Given the description of an element on the screen output the (x, y) to click on. 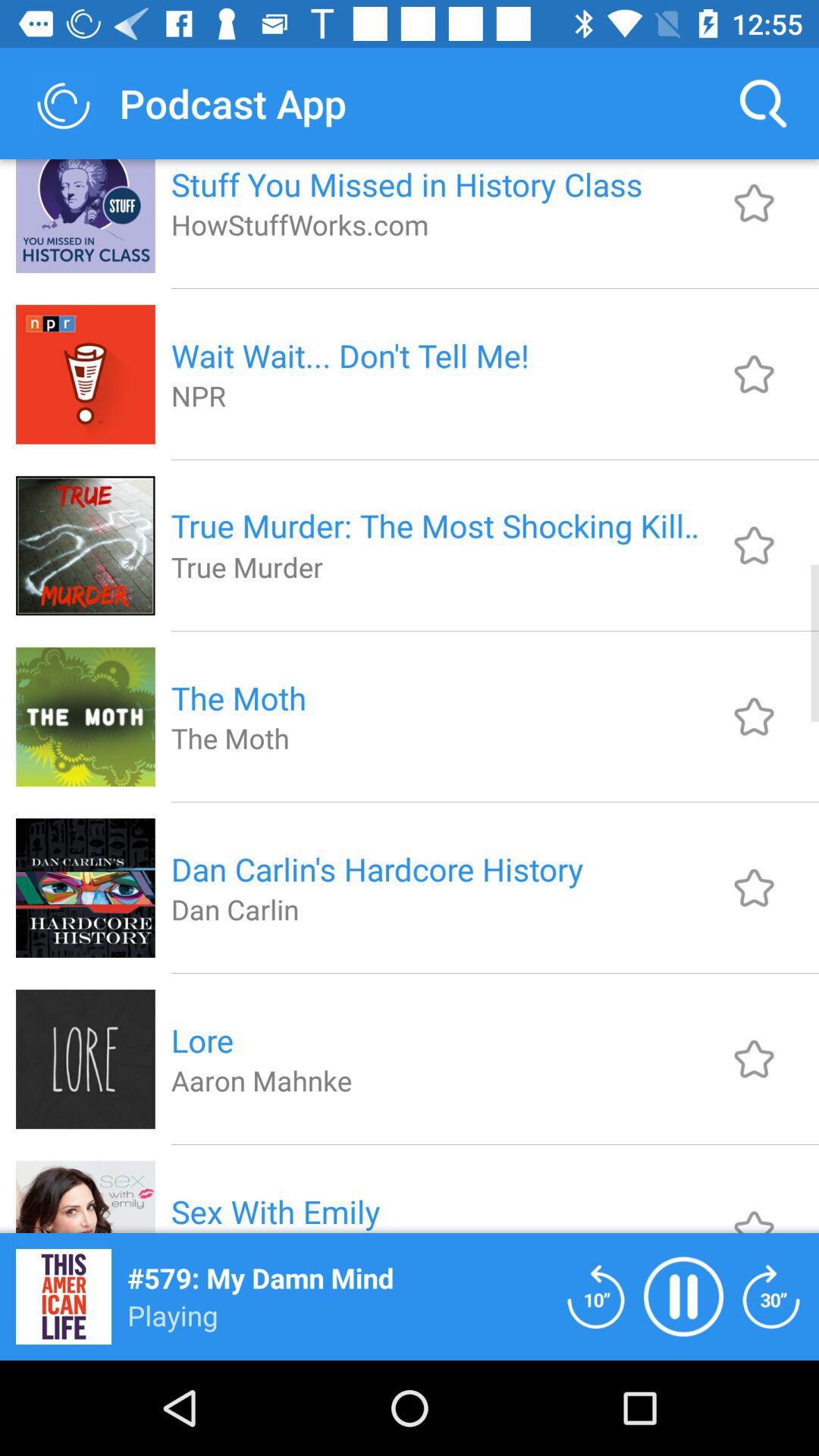
follow this podcast (754, 1058)
